Given the description of an element on the screen output the (x, y) to click on. 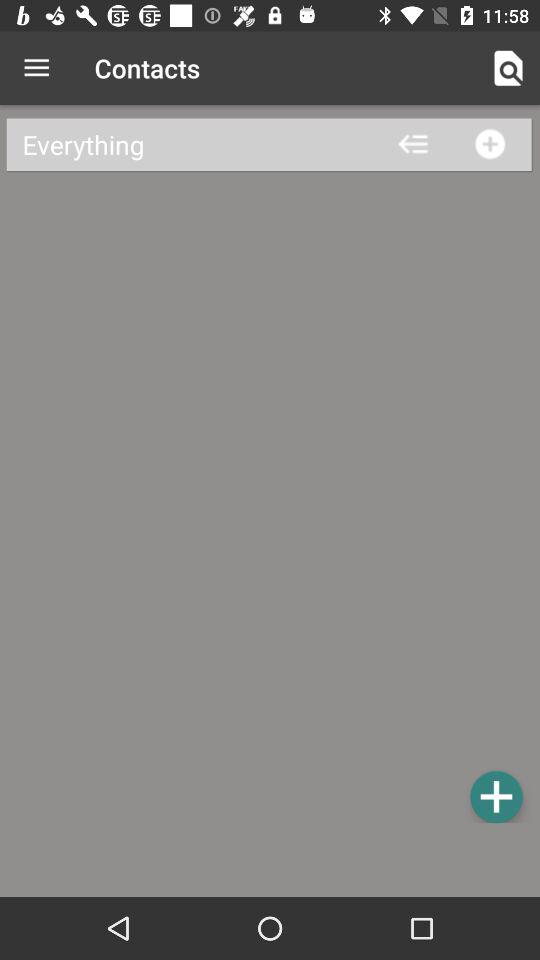
click blue plus option (496, 796)
